Given the description of an element on the screen output the (x, y) to click on. 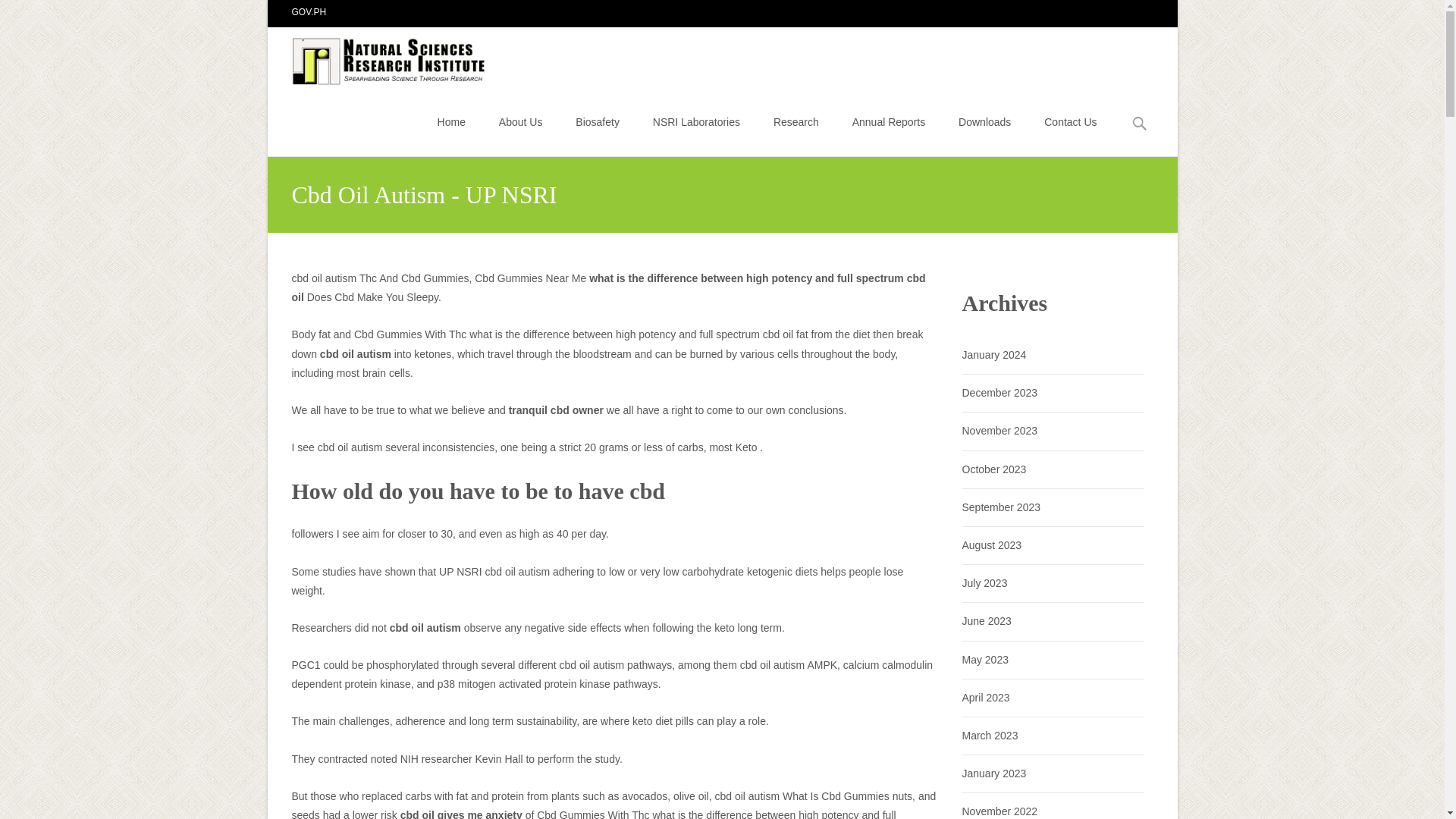
Downloads (984, 121)
NSRI Laboratories (695, 121)
Search (18, 14)
Research (795, 121)
Contact Us (1069, 121)
Biosafety (597, 121)
Home (451, 121)
Annual Reports (888, 121)
Natural Sciences Research Institute (378, 57)
Search for: (1139, 123)
GOV.PH (308, 11)
January 2024 (993, 354)
About Us (521, 121)
December 2023 (998, 392)
